Given the description of an element on the screen output the (x, y) to click on. 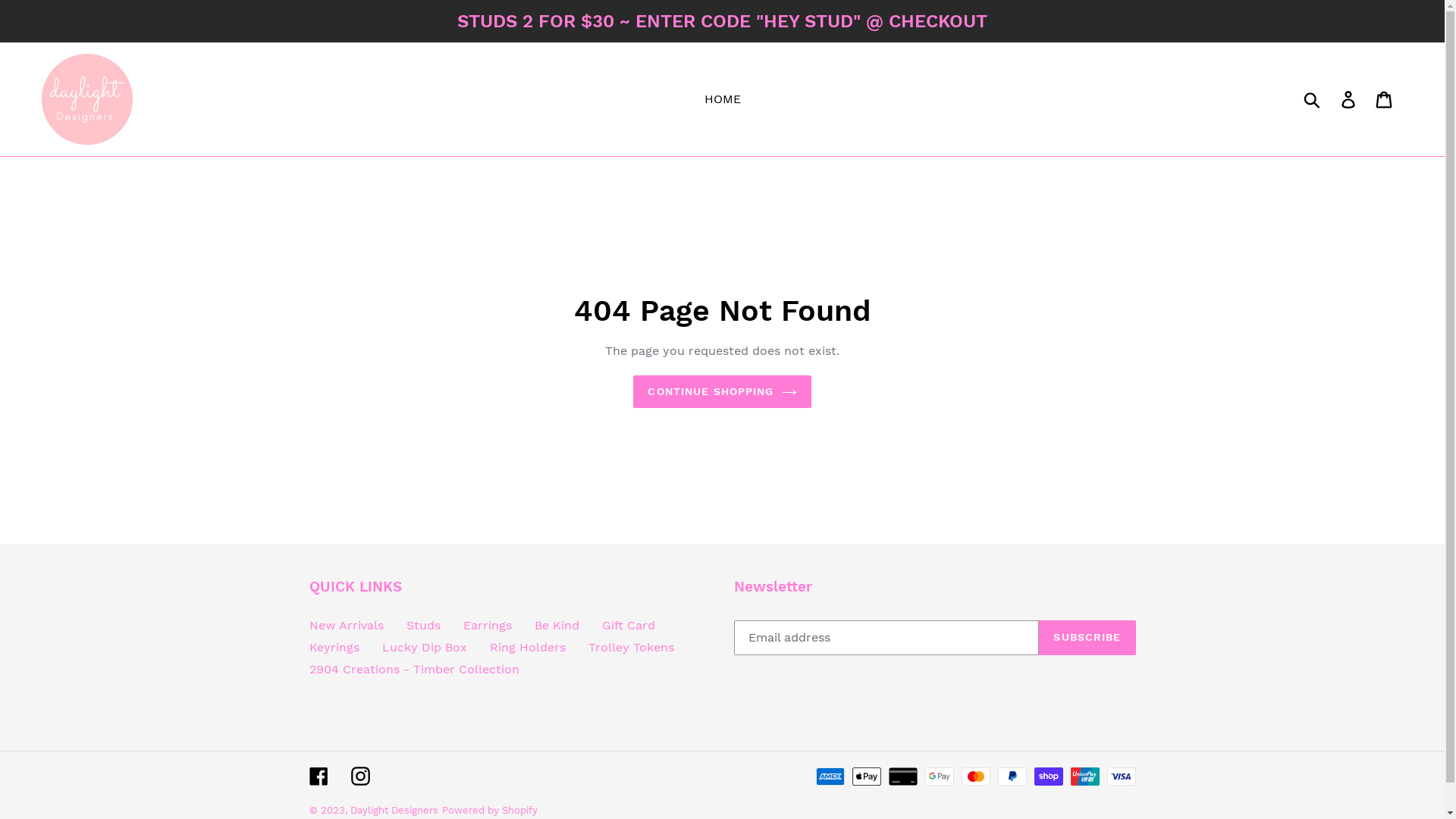
Earrings Element type: text (486, 625)
Be Kind Element type: text (555, 625)
Daylight Designers Element type: text (394, 809)
2904 Creations - Timber Collection Element type: text (414, 669)
Trolley Tokens Element type: text (631, 647)
Ring Holders Element type: text (527, 647)
Powered by Shopify Element type: text (488, 809)
Studs Element type: text (423, 625)
Submit Element type: text (1312, 99)
STUDS 2 FOR $30 ~ ENTER CODE "HEY STUD" @ CHECKOUT Element type: text (722, 21)
SUBSCRIBE Element type: text (1086, 637)
CONTINUE SHOPPING Element type: text (721, 391)
Facebook Element type: text (318, 776)
HOME Element type: text (721, 98)
Cart Element type: text (1384, 99)
Lucky Dip Box Element type: text (424, 647)
New Arrivals Element type: text (346, 625)
Log in Element type: text (1349, 99)
Gift Card Element type: text (628, 625)
Instagram Element type: text (359, 776)
Keyrings Element type: text (334, 647)
